Given the description of an element on the screen output the (x, y) to click on. 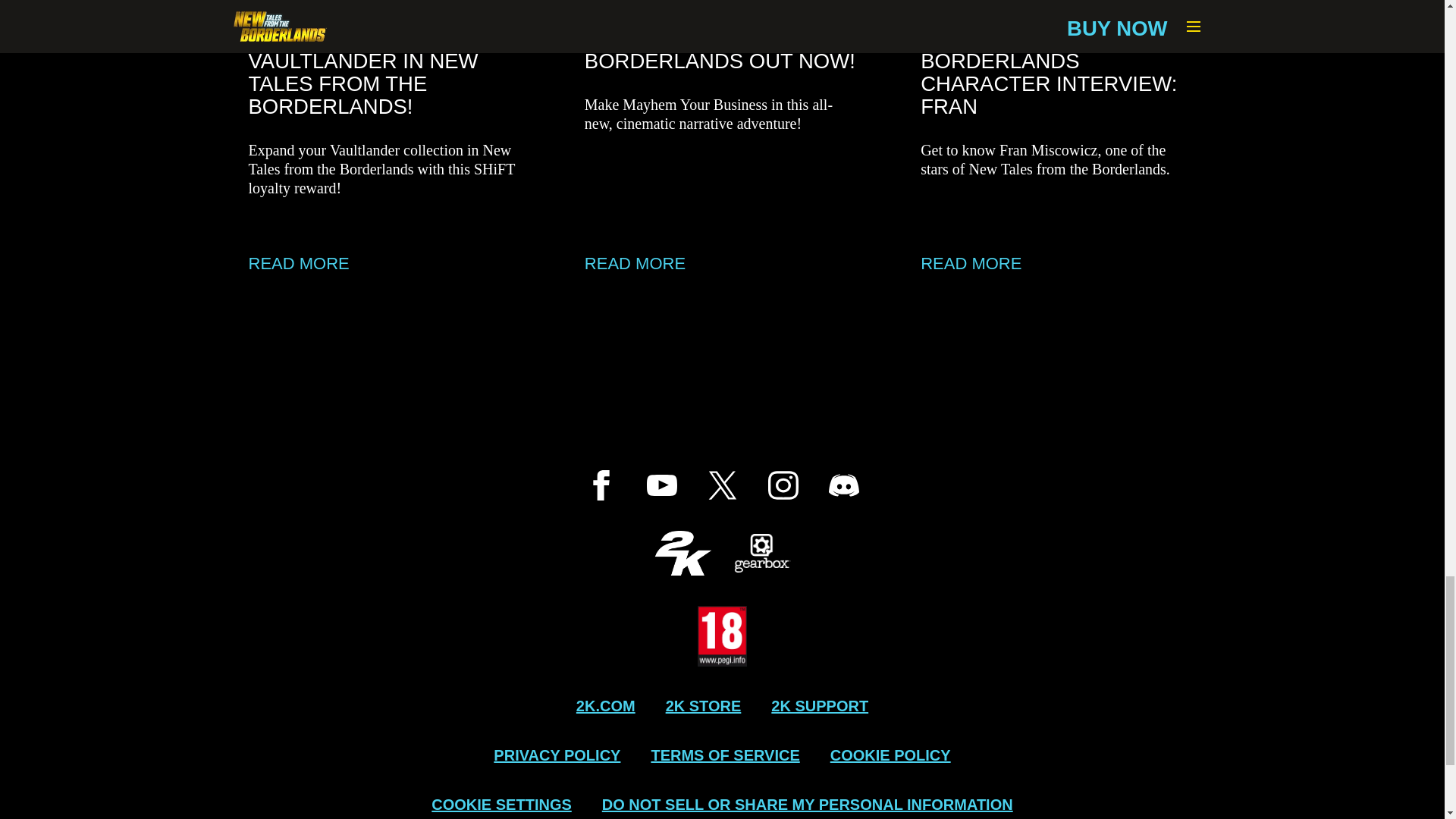
READ MORE (386, 263)
READ MORE (722, 263)
READ MORE (1057, 263)
